Given the description of an element on the screen output the (x, y) to click on. 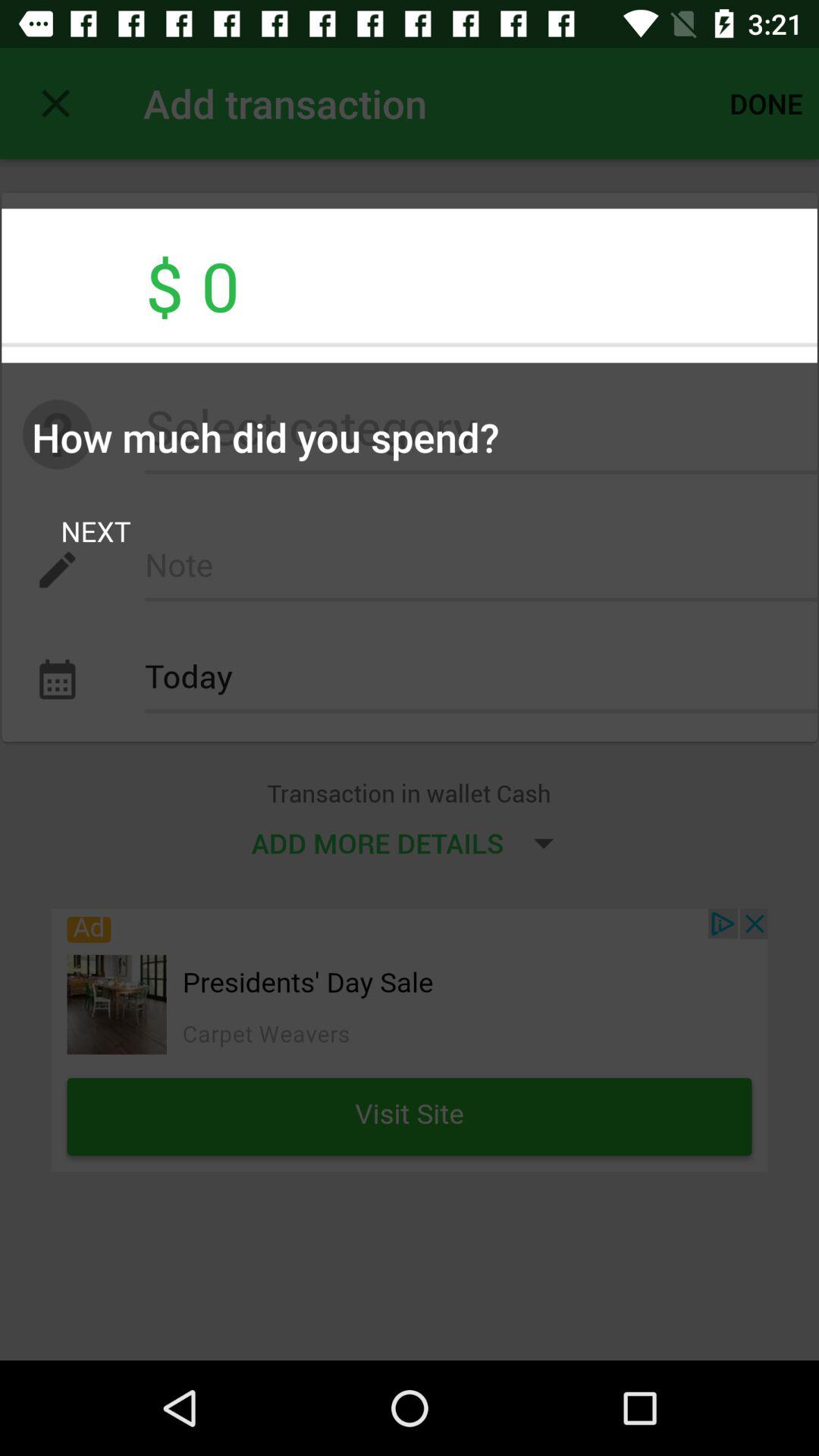
go to advertisement location (409, 1039)
